Given the description of an element on the screen output the (x, y) to click on. 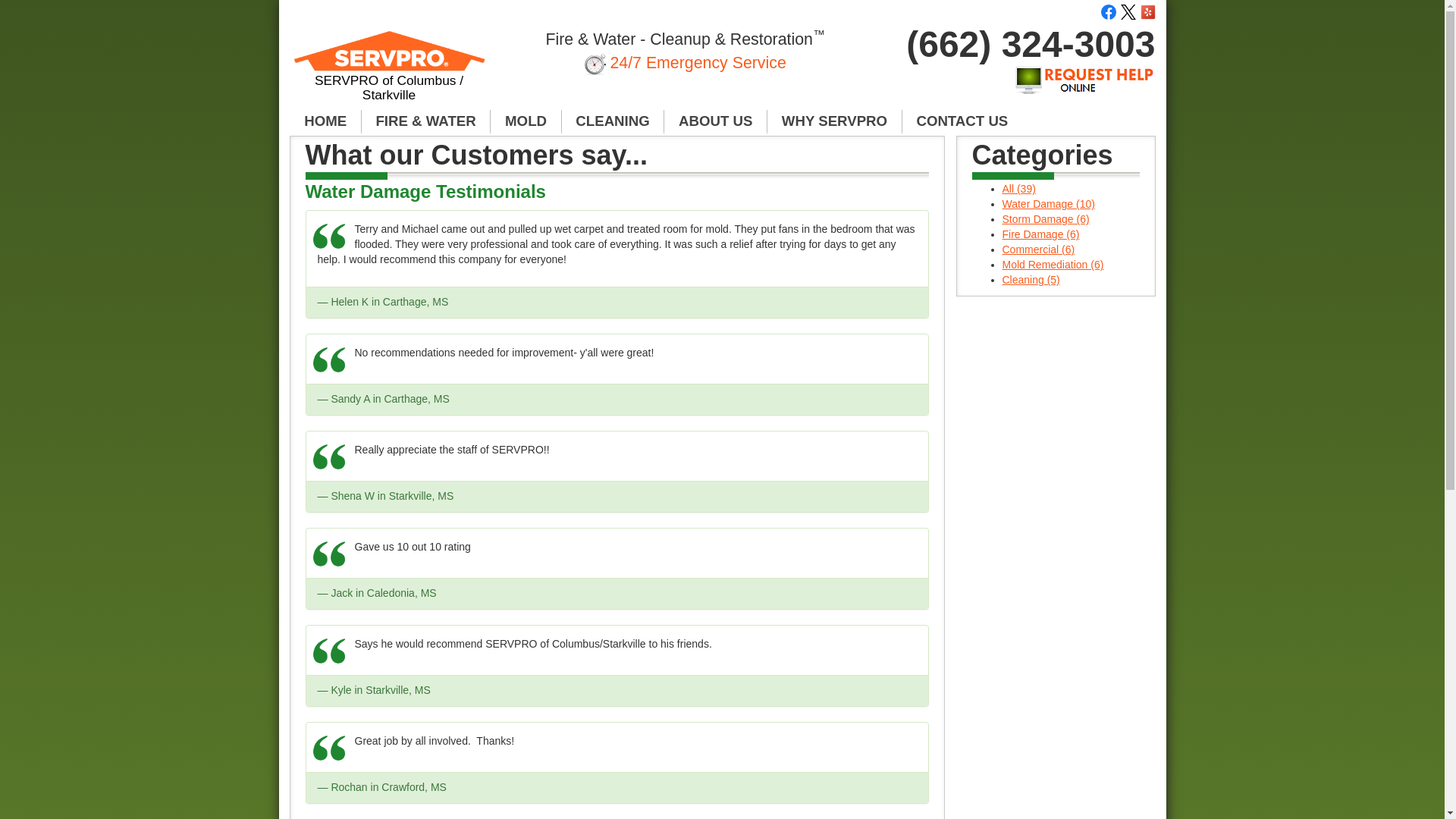
CLEANING (613, 121)
MOLD (525, 121)
HOME (325, 121)
ABOUT US (715, 121)
